Given the description of an element on the screen output the (x, y) to click on. 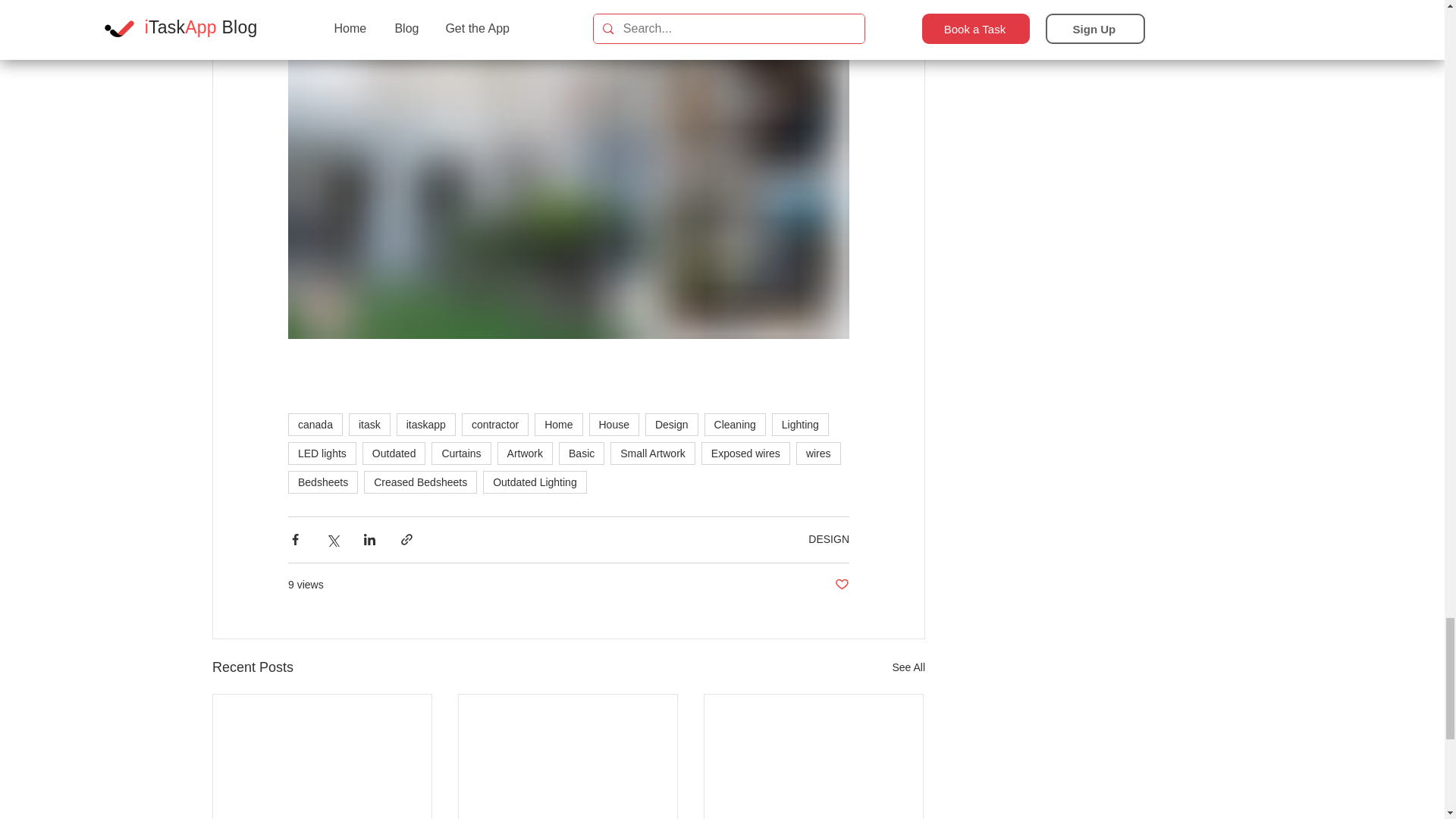
wires (818, 453)
Cleaning (734, 424)
itask (369, 424)
Bedsheets (323, 481)
Small Artwork (652, 453)
Curtains (460, 453)
Outdated Lighting (534, 481)
canada (315, 424)
LED lights (322, 453)
Artwork (525, 453)
itaskapp (425, 424)
Lighting (799, 424)
Exposed wires (745, 453)
Basic (581, 453)
Creased Bedsheets (420, 481)
